Given the description of an element on the screen output the (x, y) to click on. 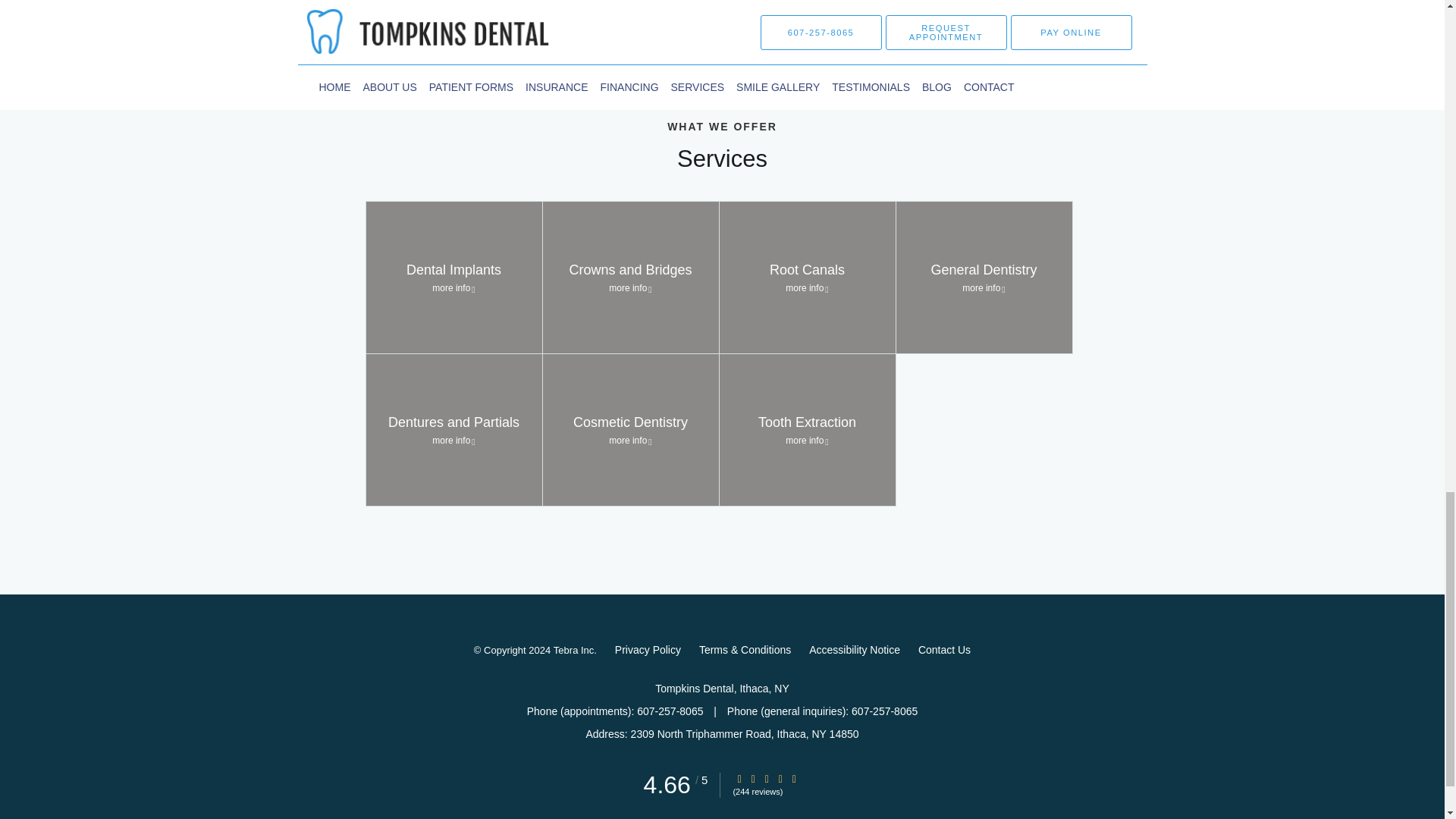
Privacy Policy (647, 649)
Tebra Inc (983, 276)
Star Rating (573, 650)
Star Rating (794, 778)
Star Rating (453, 276)
Star Rating (453, 429)
Star Rating (807, 276)
